Given the description of an element on the screen output the (x, y) to click on. 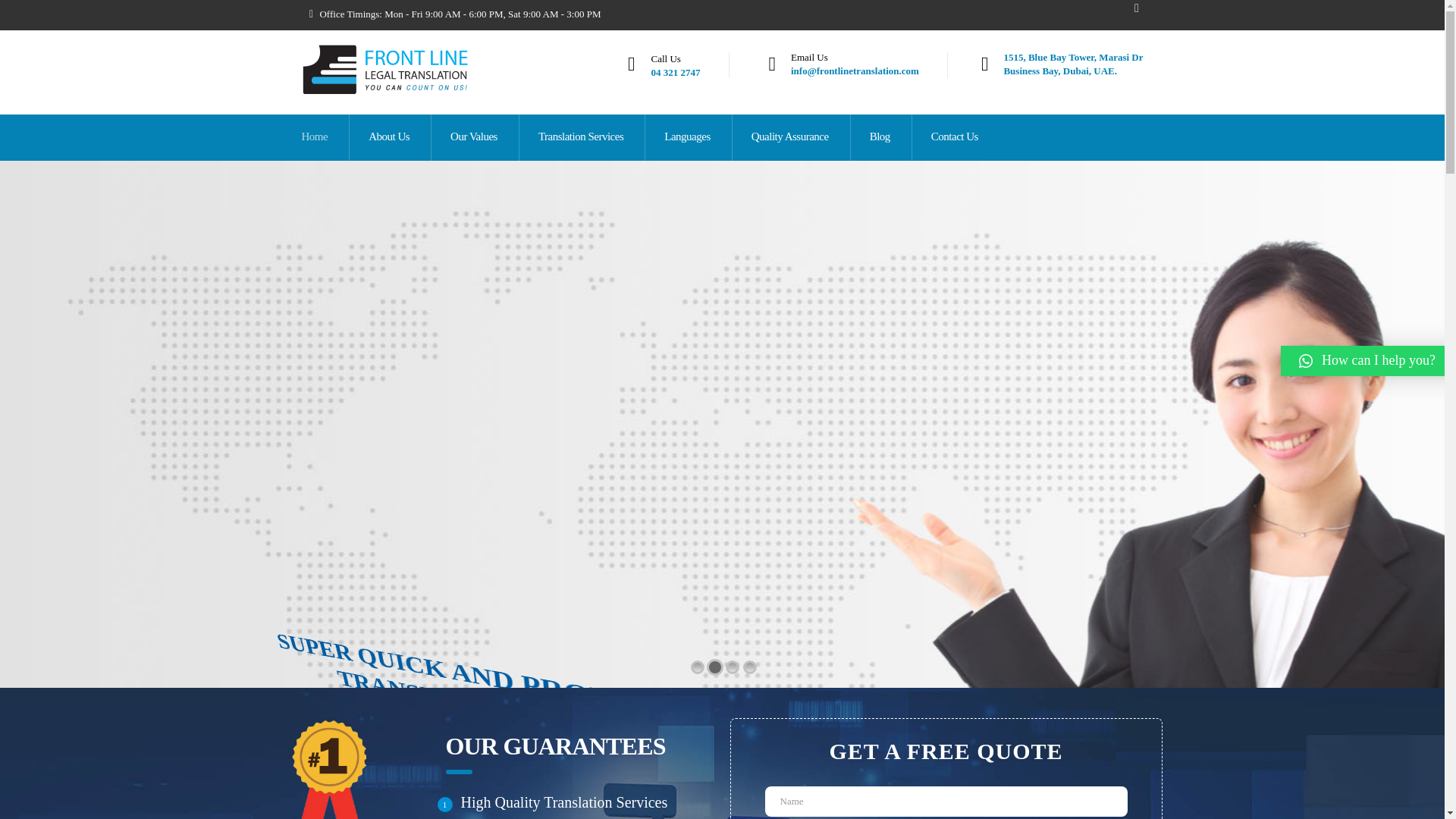
04 321 2747 (675, 71)
Contact Us (954, 137)
Blog (1072, 63)
Languages (880, 137)
About Us (687, 137)
Translation Services (389, 137)
Our Values (581, 137)
Home (474, 137)
Quality Assurance (315, 137)
